Given the description of an element on the screen output the (x, y) to click on. 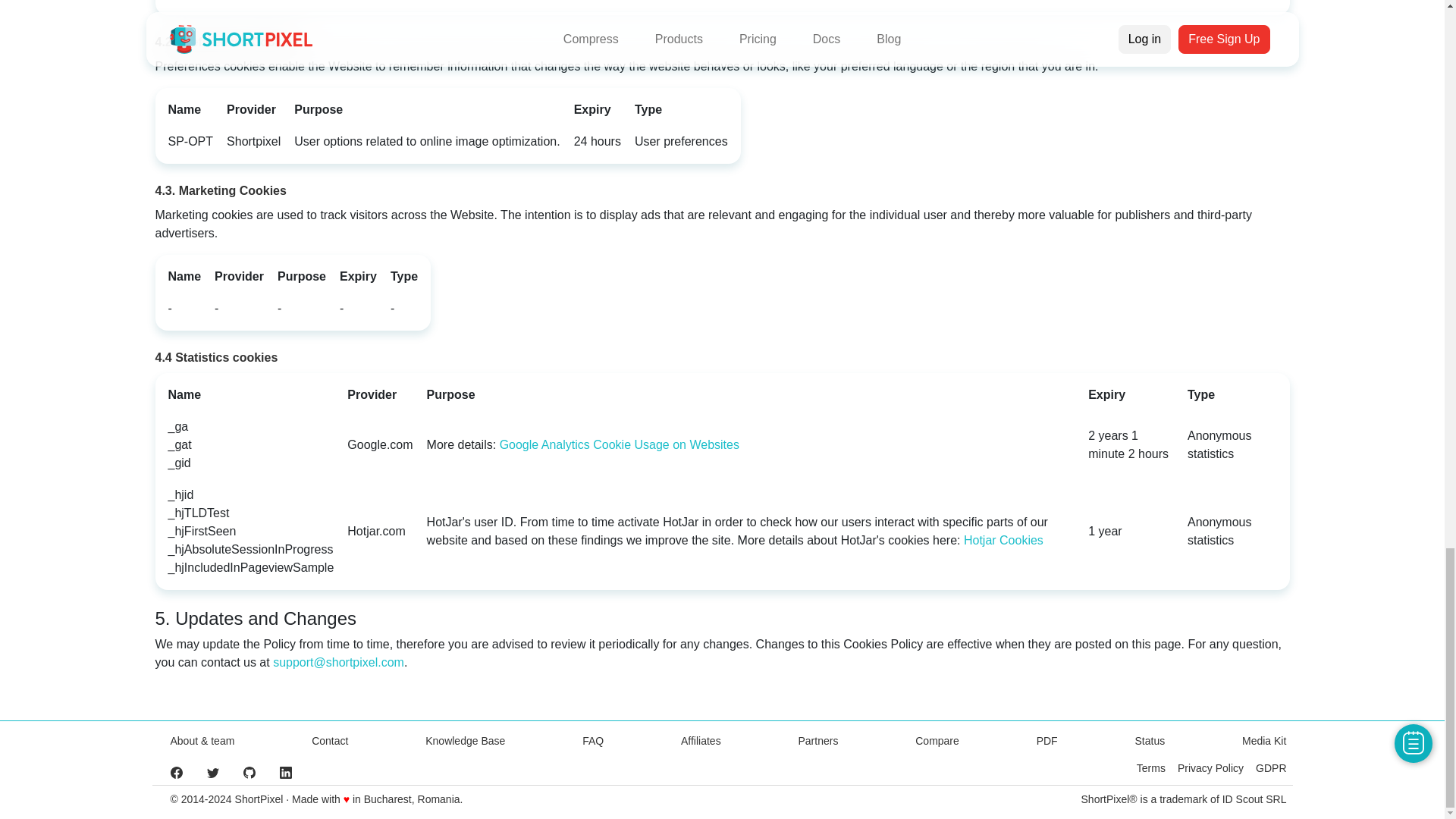
Google Analytics Cookie Usage on Websites (619, 444)
Terms (1151, 767)
Partners (817, 740)
Contact (329, 740)
Compare (937, 740)
Media Kit (1263, 740)
Affiliates (700, 740)
PDF (1047, 740)
Privacy Policy (1210, 767)
Status (1149, 740)
